Given the description of an element on the screen output the (x, y) to click on. 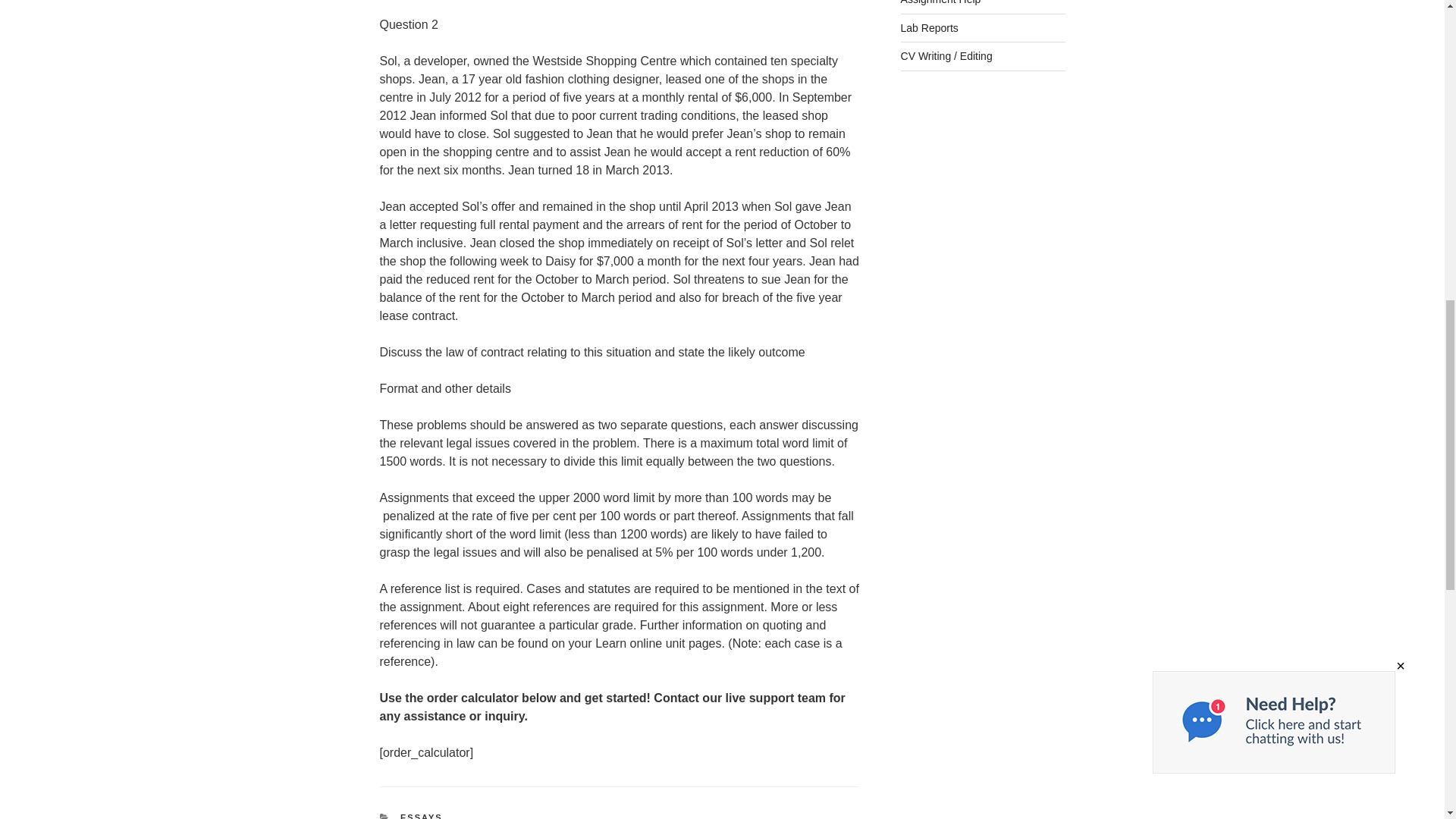
Assignment Help (941, 2)
Lab Reports (929, 28)
ESSAYS (421, 816)
